Given the description of an element on the screen output the (x, y) to click on. 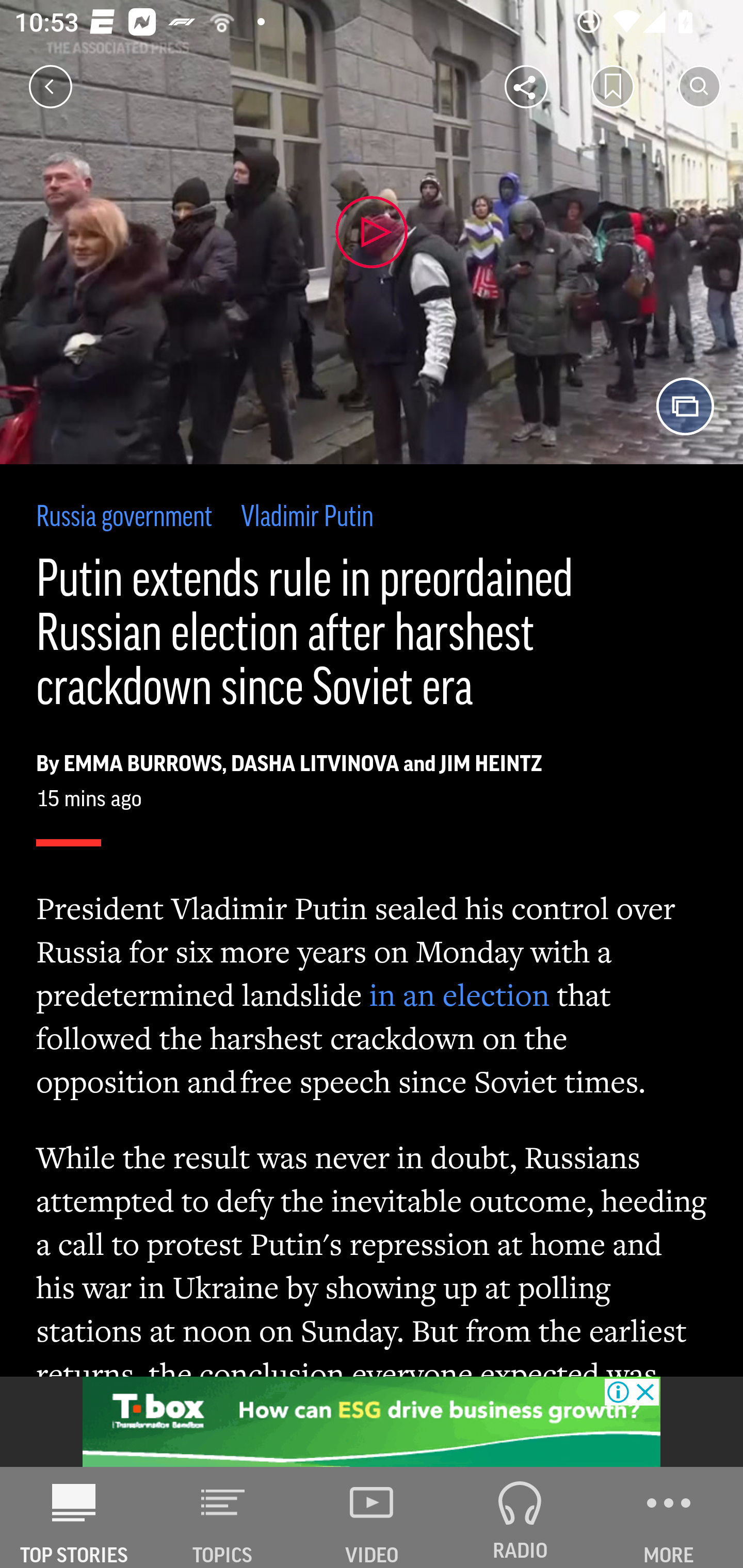
Russia government (124, 518)
Vladimir Putin (306, 518)
in an election (459, 994)
sustainability%3FDCSext (371, 1421)
AP News TOP STORIES (74, 1517)
TOPICS (222, 1517)
VIDEO (371, 1517)
RADIO (519, 1517)
MORE (668, 1517)
